Given the description of an element on the screen output the (x, y) to click on. 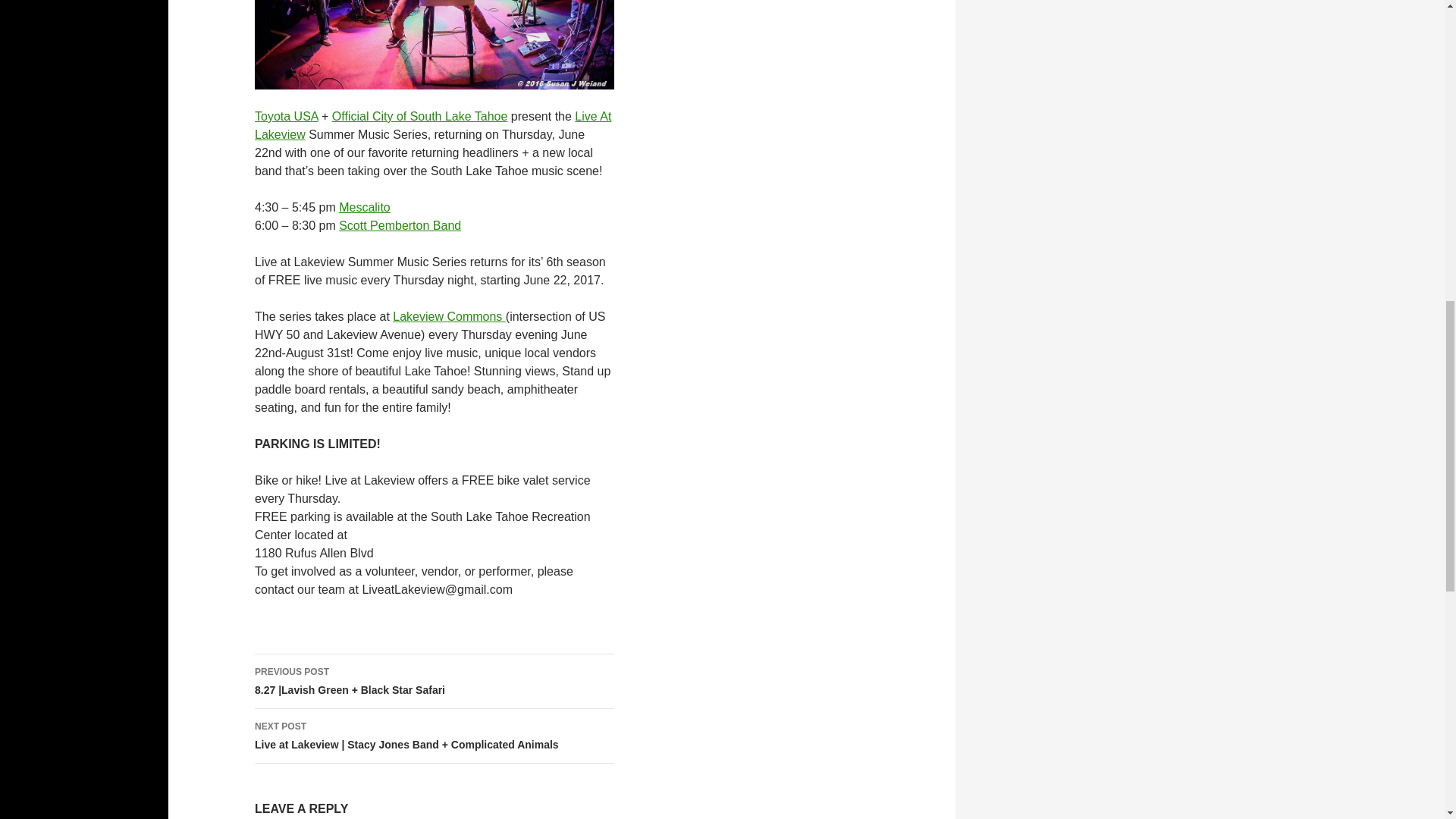
Scott Pemberton Band (400, 225)
Live At Lakeview (432, 124)
Official City of South Lake Tahoe (419, 115)
Mescalito (364, 206)
Lakeview Commons  (449, 316)
Toyota USA (286, 115)
Lakeview Commons - Map (449, 316)
